Given the description of an element on the screen output the (x, y) to click on. 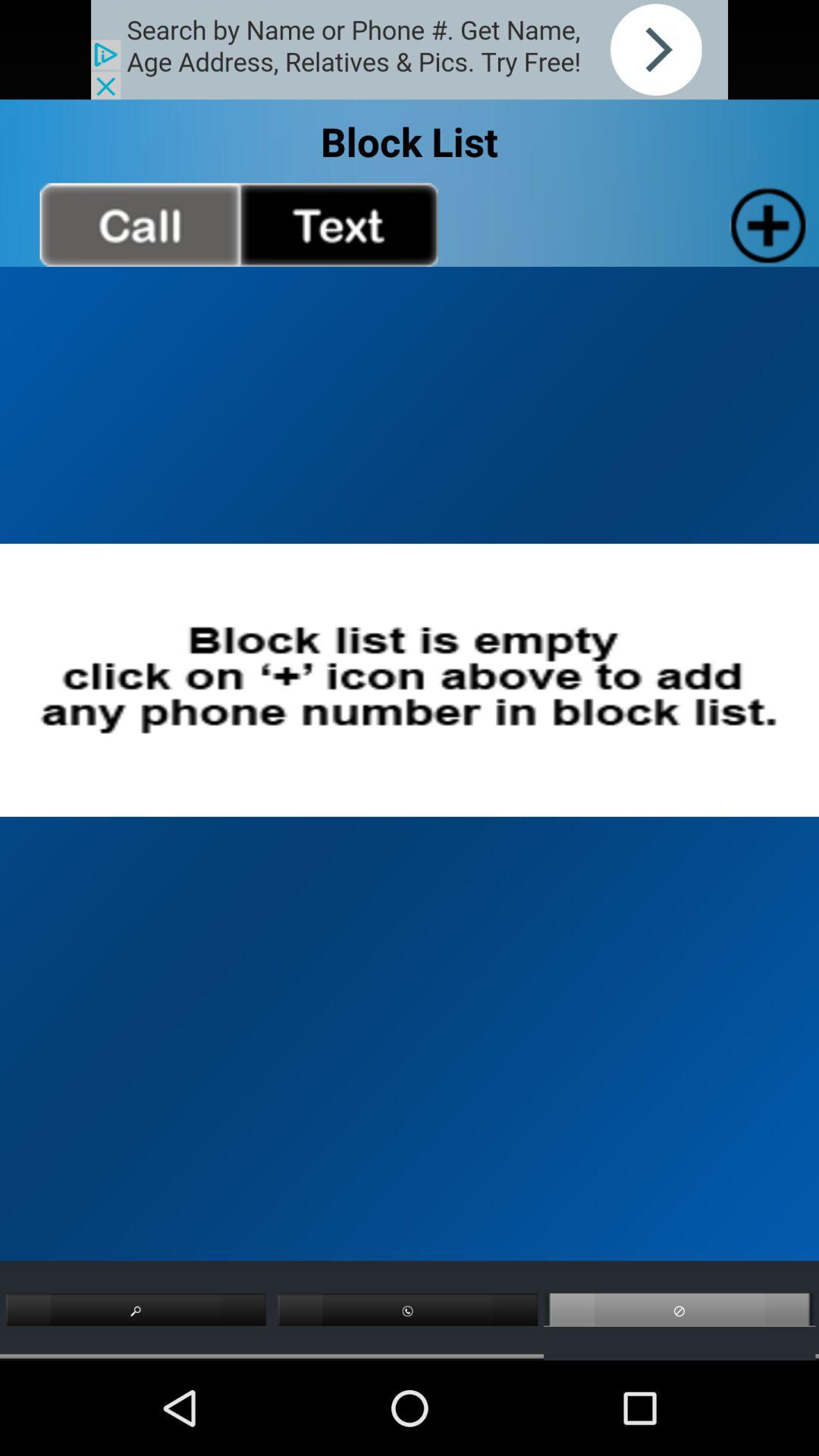
see text messages (337, 224)
